Given the description of an element on the screen output the (x, y) to click on. 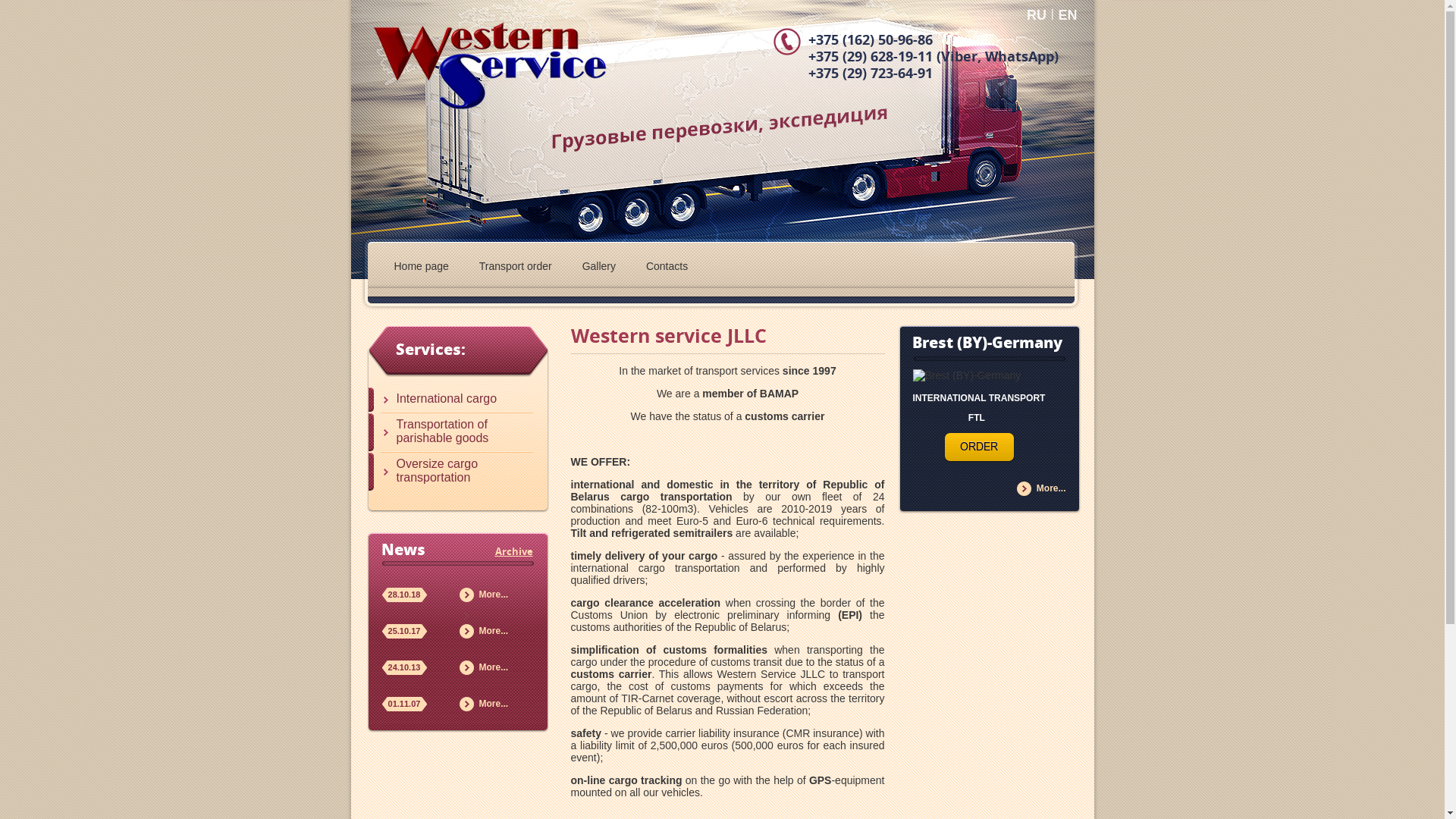
RU Element type: text (1036, 15)
Archive Element type: text (513, 551)
More... Element type: text (493, 667)
More... Element type: text (1051, 488)
More... Element type: text (493, 594)
Transport order Element type: text (515, 272)
International cargo Element type: text (450, 399)
Home page Element type: text (421, 272)
EN Element type: text (1066, 15)
More... Element type: text (493, 630)
Contacts Element type: text (666, 272)
Oversize cargo transportation Element type: text (450, 471)
Gallery Element type: text (598, 272)
Transportation of parishable goods Element type: text (450, 432)
More... Element type: text (493, 703)
